Given the description of an element on the screen output the (x, y) to click on. 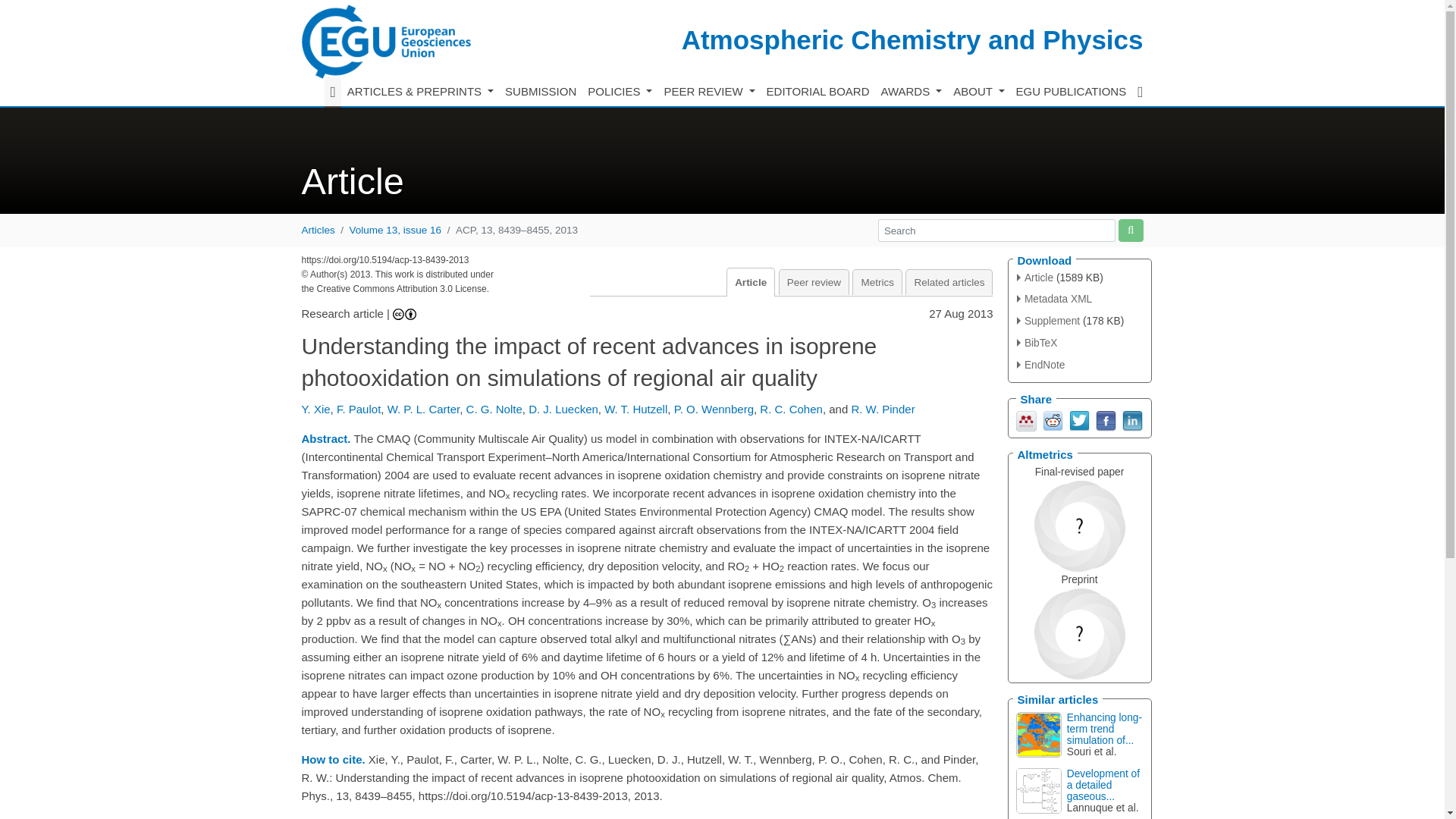
Start site search (1130, 229)
Mendeley (1026, 419)
Atmospheric Chemistry and Physics (911, 39)
Reddit (1052, 419)
POLICIES (620, 91)
XML Version (1054, 298)
SUBMISSION (540, 91)
Facebook (1104, 419)
Twitter (1078, 419)
